Given the description of an element on the screen output the (x, y) to click on. 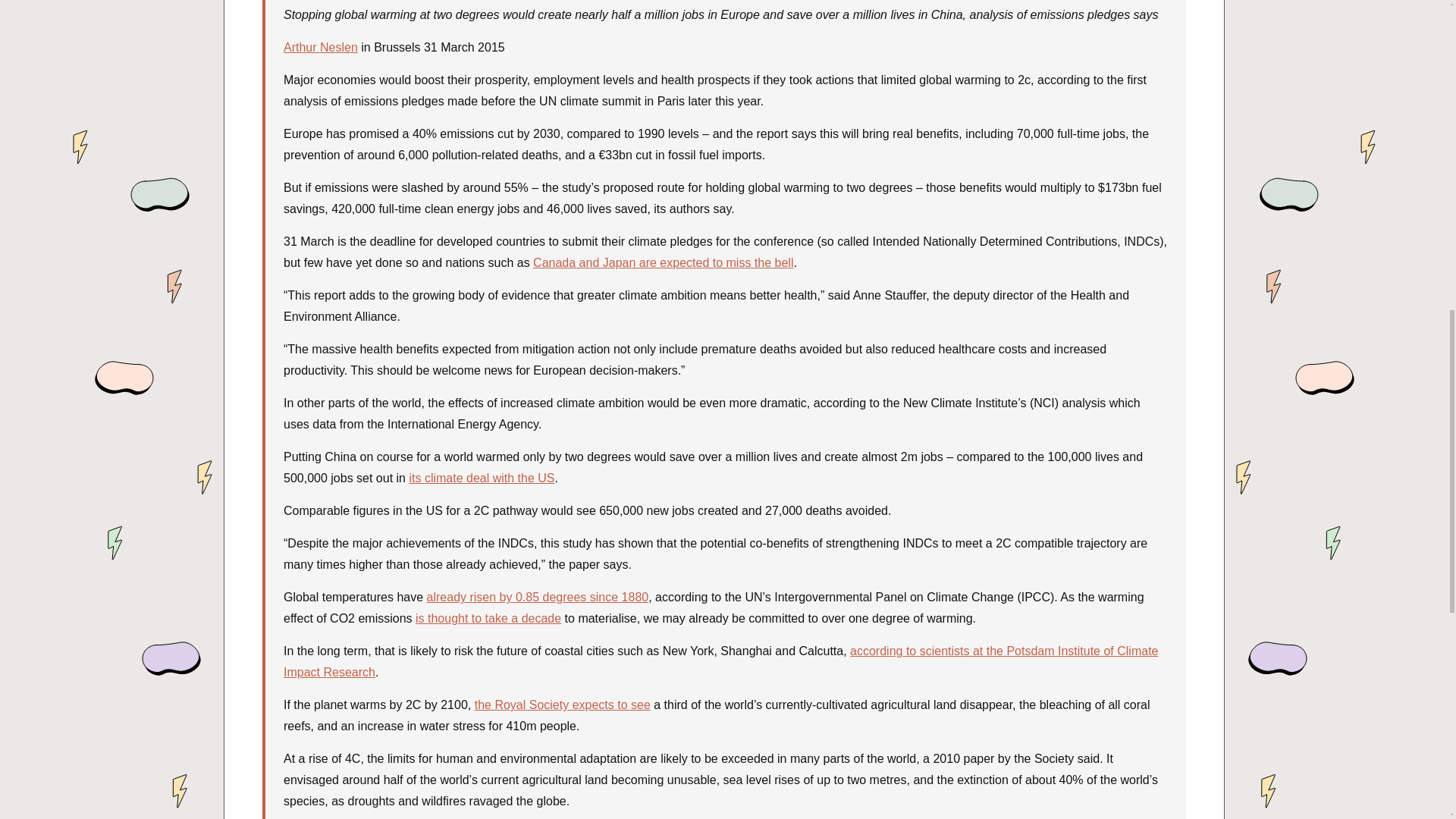
Arthur Neslen (320, 47)
Canada and Japan are expected to miss the bell (662, 262)
its climate deal with the US (481, 477)
already risen by 0.85 degrees since 1880 (537, 596)
the Royal Society expect (541, 704)
is thought to take a decade (487, 617)
s to see (629, 704)
